Given the description of an element on the screen output the (x, y) to click on. 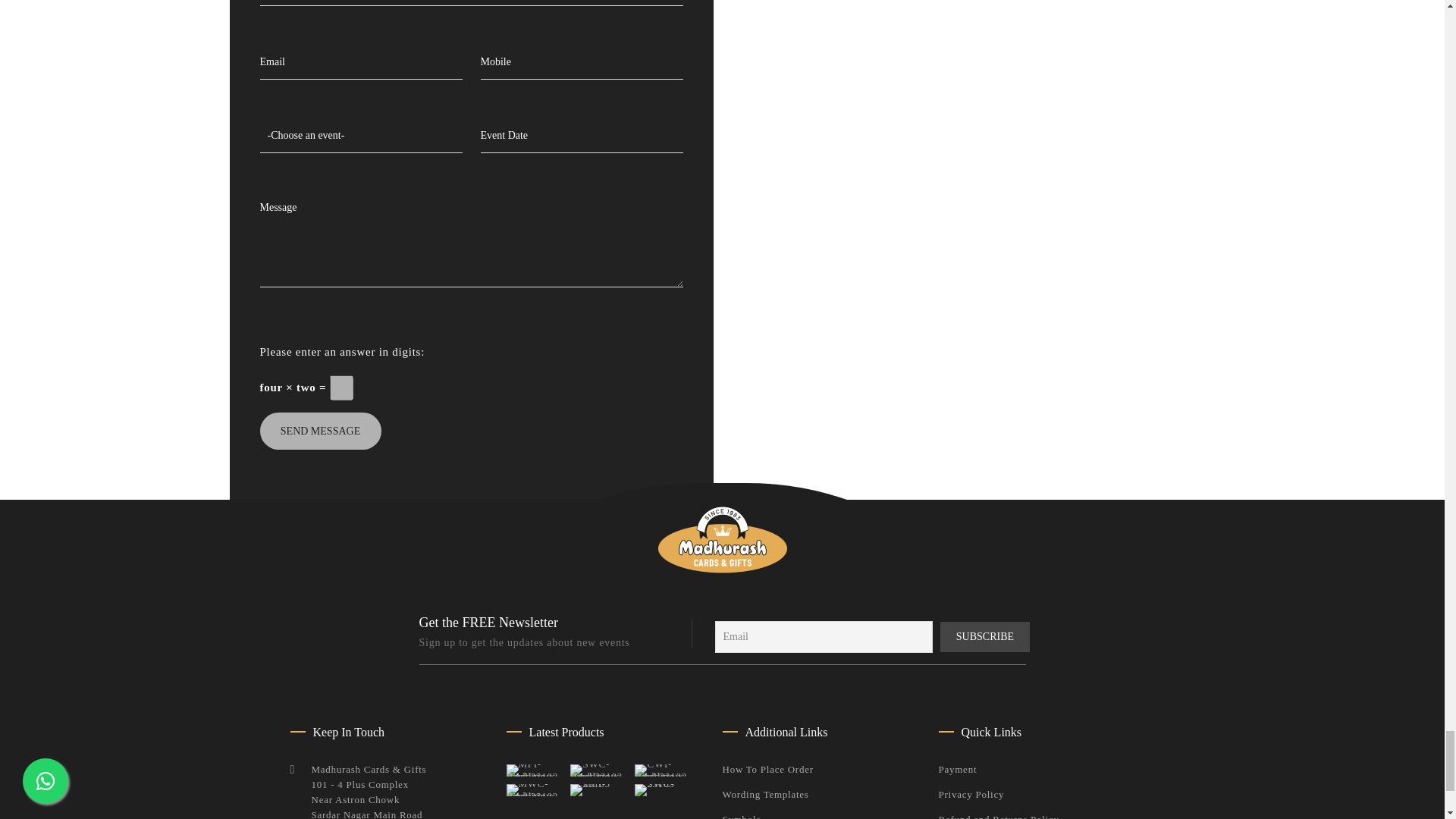
SUBSCRIBE (985, 636)
Send Message (319, 430)
